Given the description of an element on the screen output the (x, y) to click on. 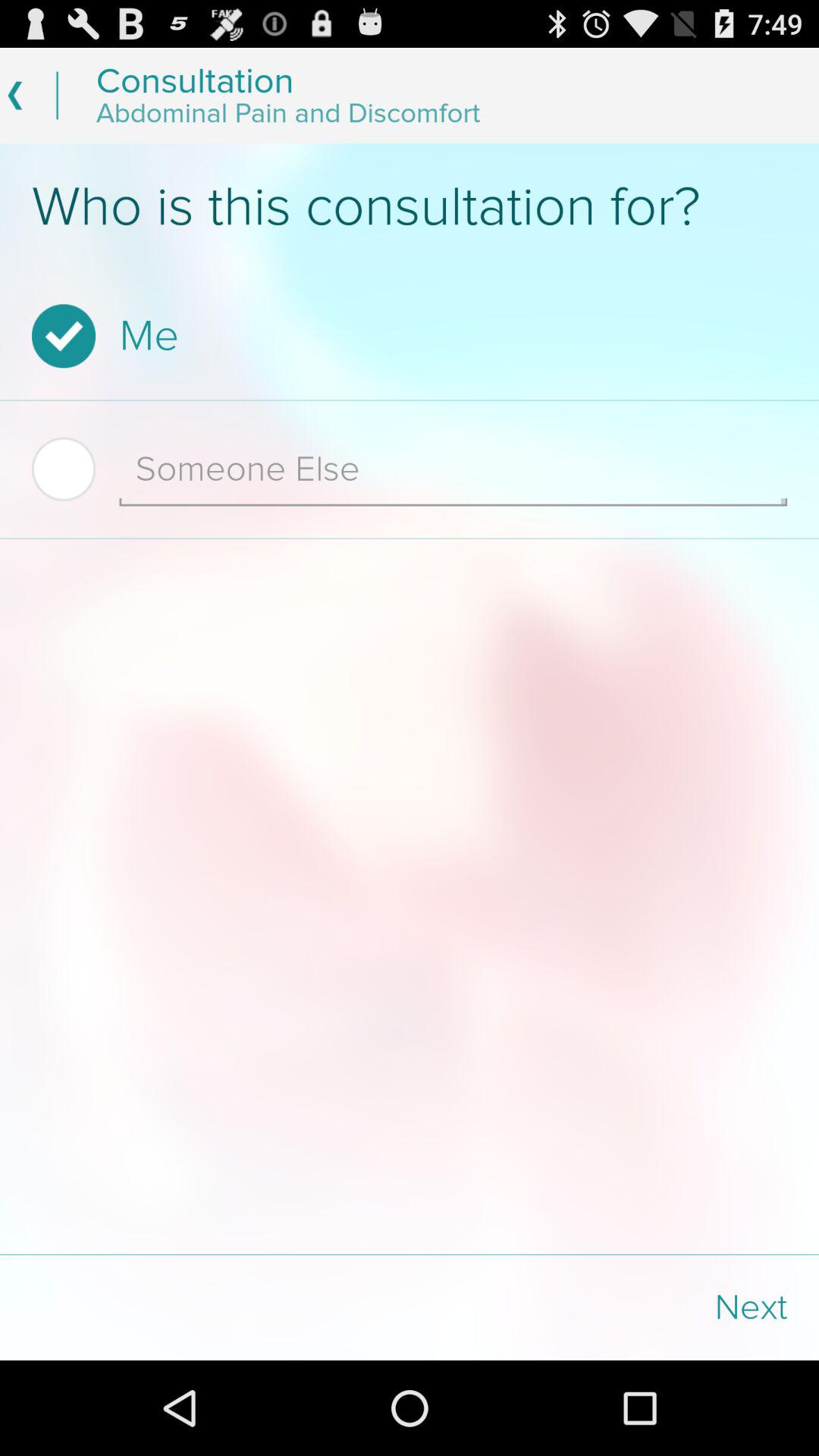
flip until next item (614, 1307)
